Given the description of an element on the screen output the (x, y) to click on. 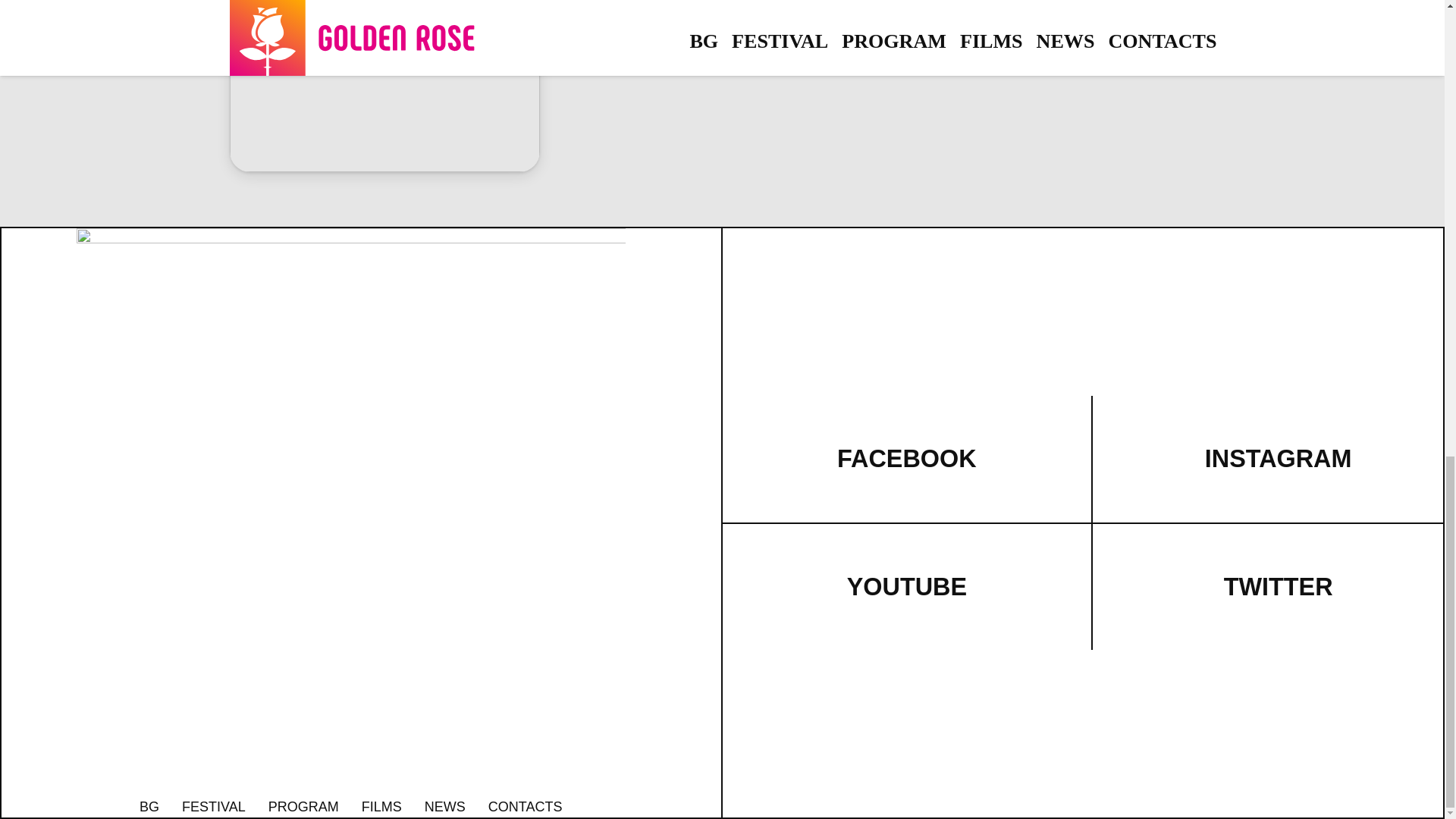
TWITTER (1278, 586)
BG (148, 806)
PROGRAM (303, 806)
INSTAGRAM (1278, 458)
FESTIVAL (214, 806)
CONTACTS (524, 806)
FILMS (381, 806)
BG (148, 806)
NEWS (445, 806)
FACEBOOK (906, 458)
YOUTUBE (906, 586)
